Given the description of an element on the screen output the (x, y) to click on. 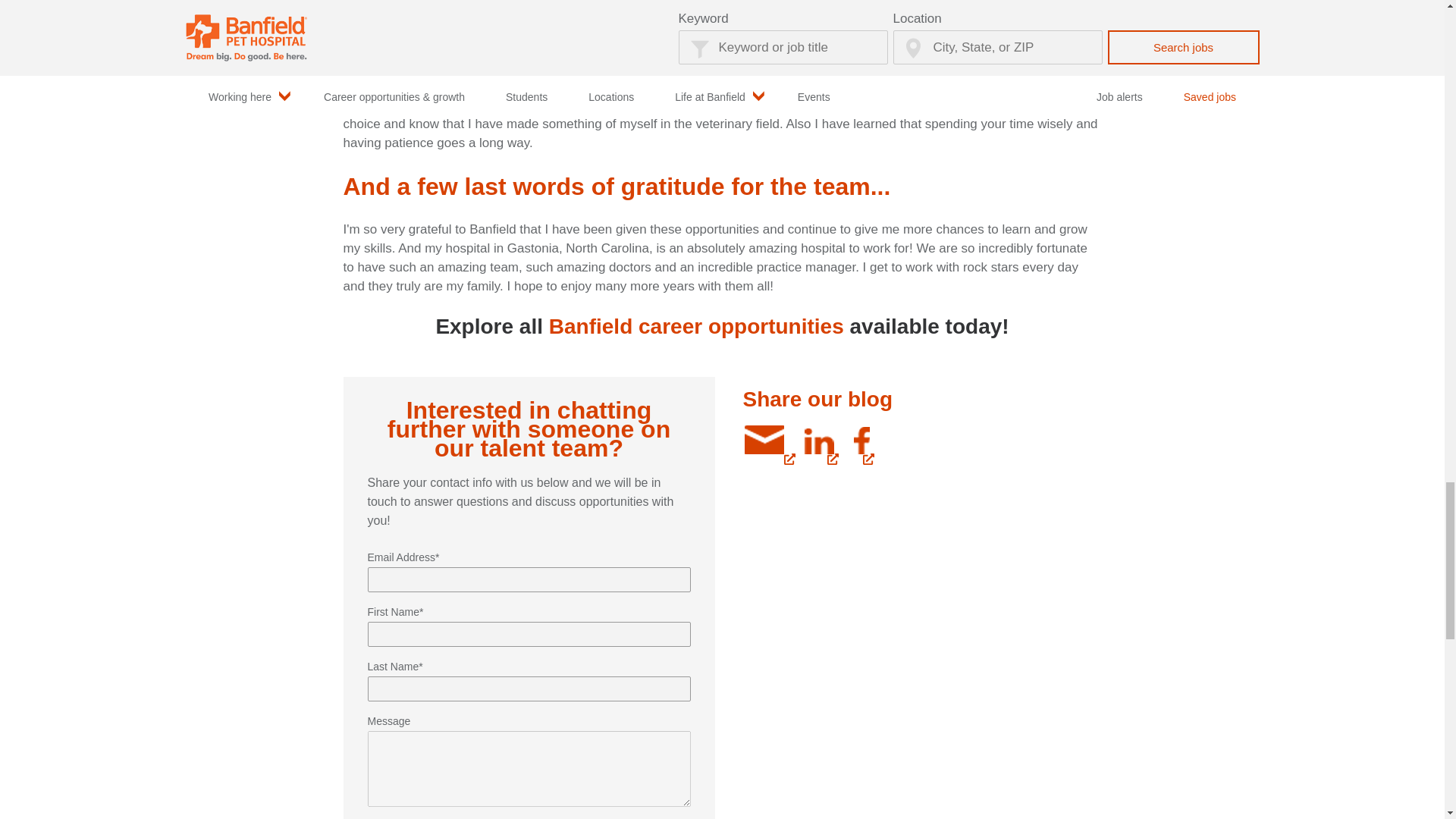
Email (763, 439)
Banfield career opportunities (696, 326)
Banfield career opportunities (696, 326)
LinkedIn (818, 440)
